Given the description of an element on the screen output the (x, y) to click on. 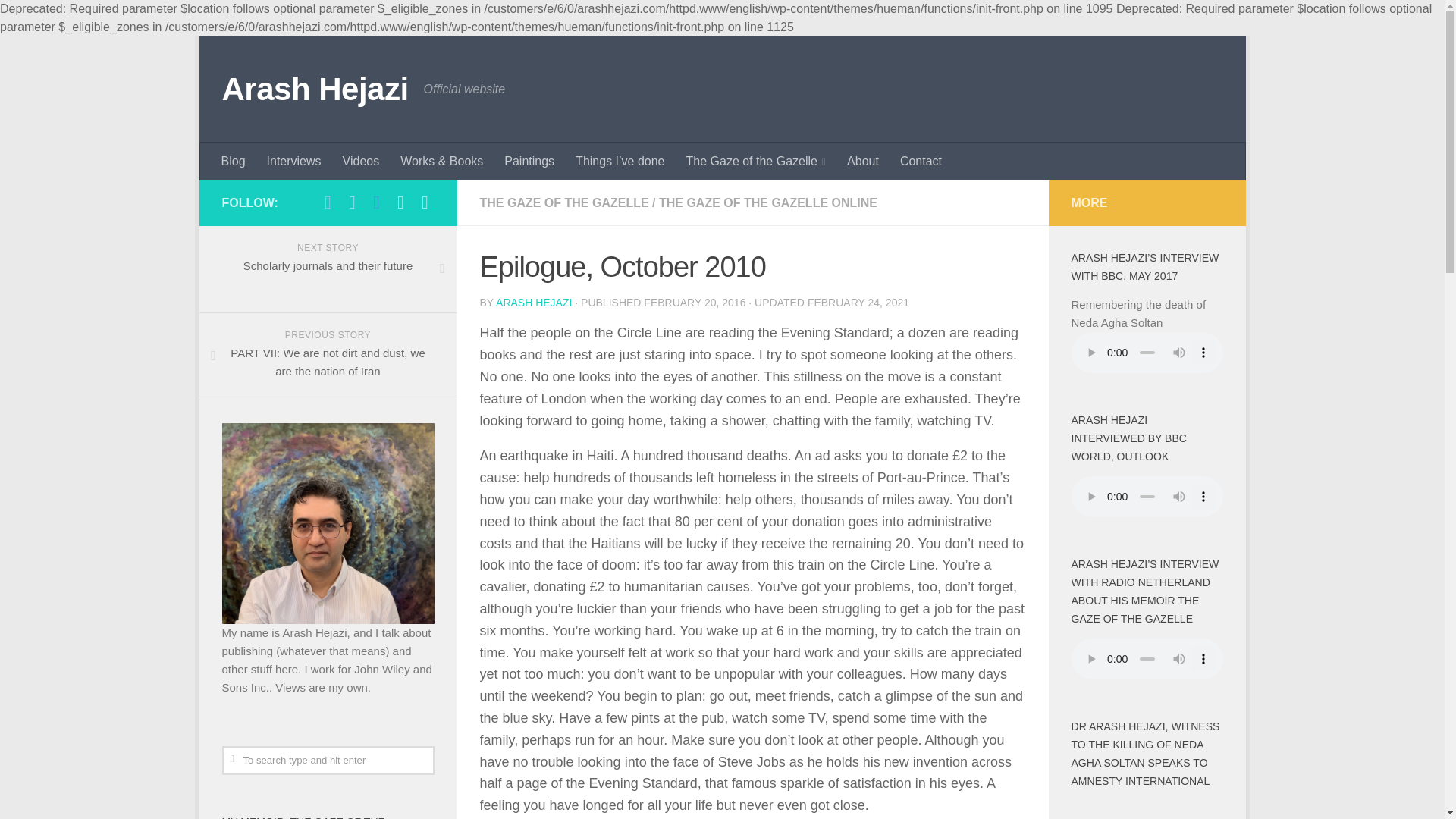
Follow us on Instagram (400, 202)
Posts by Arash Hejazi (534, 302)
Videos (360, 161)
THE GAZE OF THE GAZELLE (563, 202)
Blog (233, 161)
Follow us on Pinterest (423, 202)
ARASH HEJAZI (534, 302)
Interviews (327, 269)
About (293, 161)
